Given the description of an element on the screen output the (x, y) to click on. 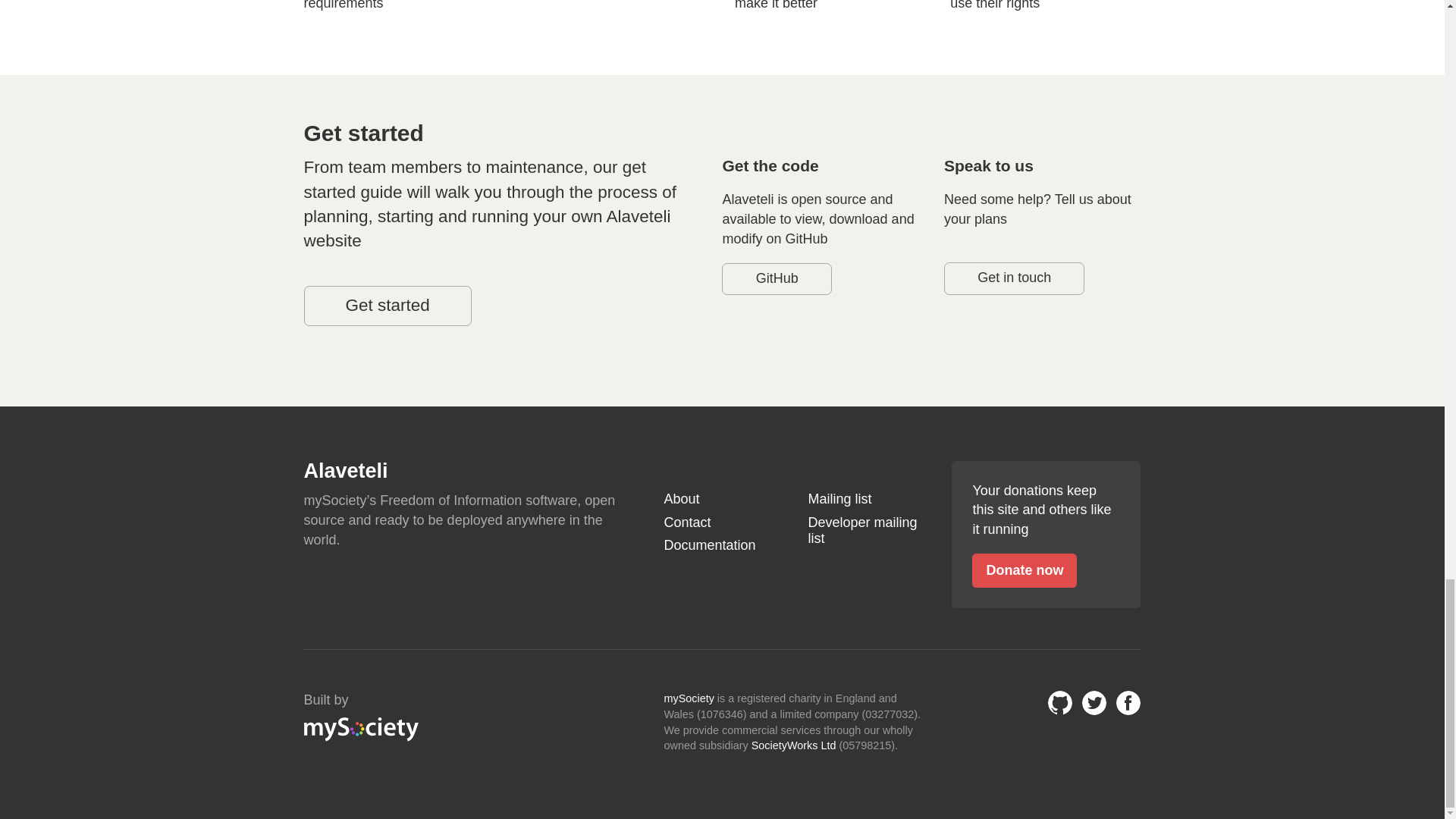
GitHub (776, 278)
Facebook (1128, 702)
Contact (721, 523)
Get started (386, 305)
About (721, 499)
Get in touch (1013, 278)
Mailing list (866, 499)
mySociety (688, 698)
Developer mailing list (866, 531)
mySociety (360, 729)
Documentation (721, 545)
GitHub (1059, 702)
SocietyWorks Ltd (793, 745)
Donate now (1024, 570)
Twitter (1093, 702)
